Given the description of an element on the screen output the (x, y) to click on. 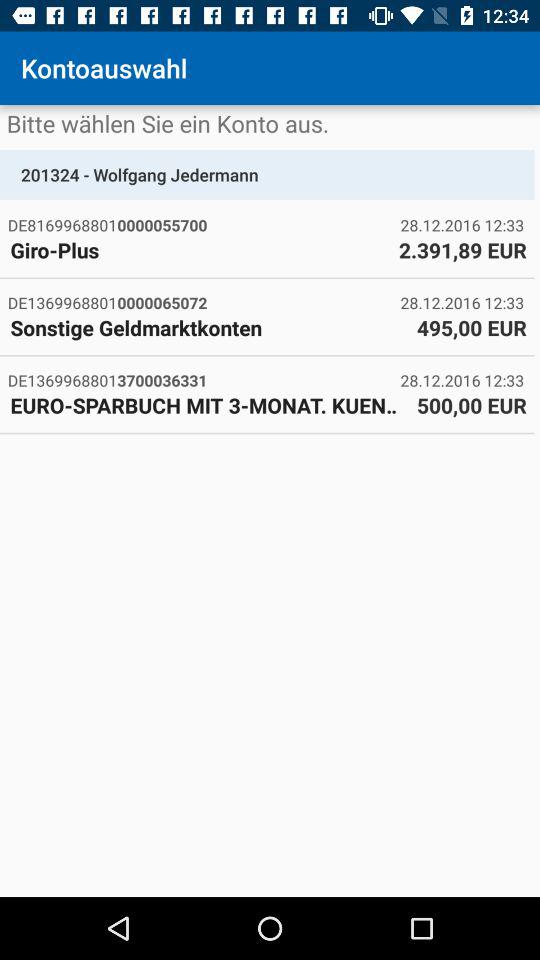
press icon to the left of 500,00 eur item (208, 405)
